Given the description of an element on the screen output the (x, y) to click on. 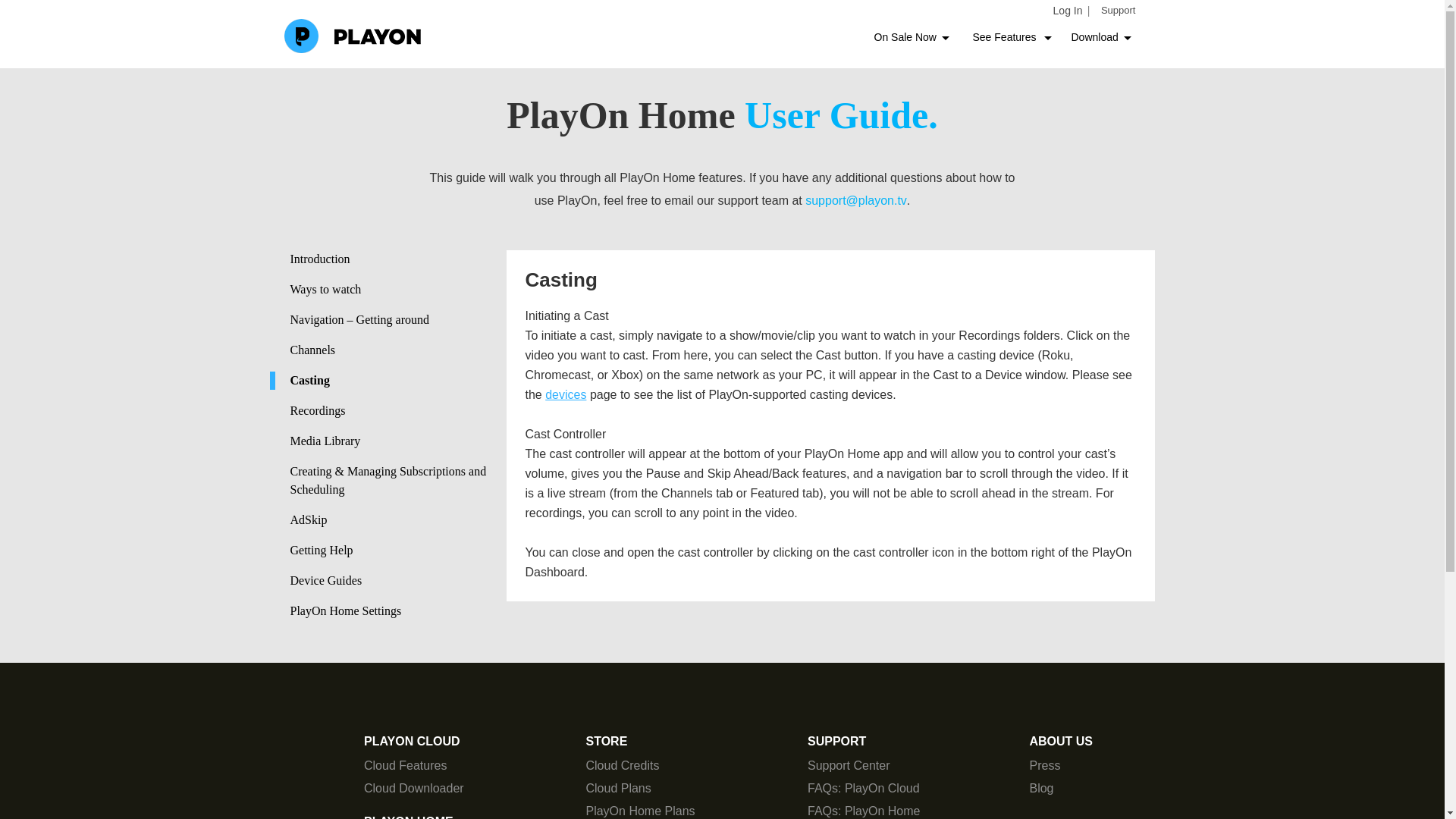
Ways to watch (397, 289)
Support (1117, 11)
Download (1095, 37)
Log In (1067, 11)
On Sale Now (906, 37)
Channels (397, 350)
Casting (387, 380)
Introduction (397, 259)
See Features (1007, 37)
